Given the description of an element on the screen output the (x, y) to click on. 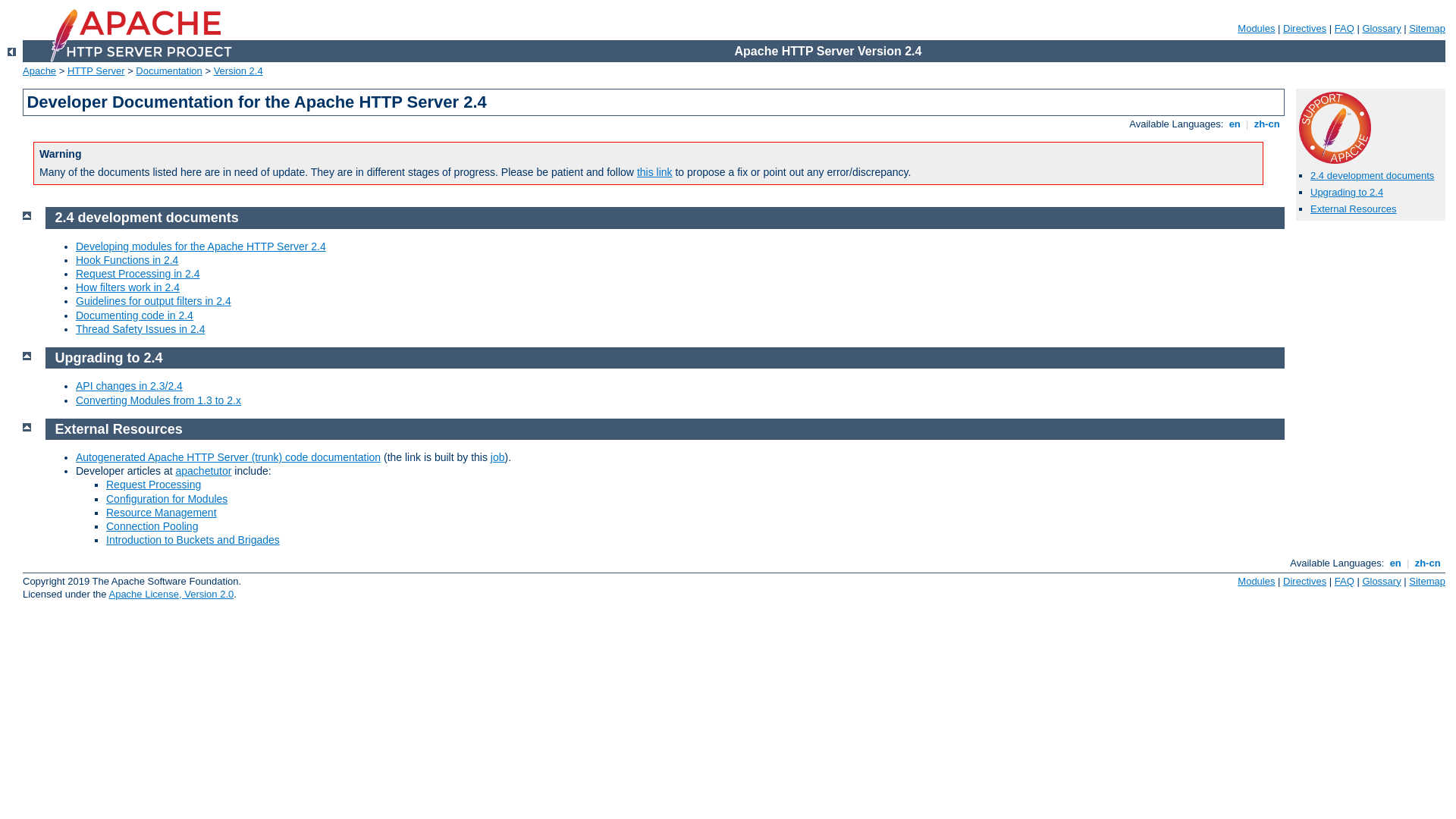
Hook Functions in 2.4 Element type: text (126, 260)
Documenting code in 2.4 Element type: text (134, 315)
2.4 development documents Element type: text (1372, 175)
Request Processing in 2.4 Element type: text (137, 273)
Directives Element type: text (1304, 28)
Request Processing Element type: text (153, 484)
Upgrading to 2.4 Element type: text (109, 357)
Version 2.4 Element type: text (238, 70)
 en  Element type: text (1394, 562)
job Element type: text (497, 457)
Developing modules for the Apache HTTP Server 2.4 Element type: text (200, 246)
this link Element type: text (654, 172)
Converting Modules from 1.3 to 2.x Element type: text (158, 400)
Glossary Element type: text (1380, 580)
Connection Pooling Element type: text (151, 526)
FAQ Element type: text (1344, 580)
External Resources Element type: text (118, 428)
API changes in 2.3/2.4 Element type: text (128, 385)
Directives Element type: text (1304, 580)
Introduction to Buckets and Brigades Element type: text (192, 539)
Autogenerated Apache HTTP Server (trunk) code documentation Element type: text (227, 457)
apachetutor Element type: text (203, 470)
Thread Safety Issues in 2.4 Element type: text (139, 329)
Apache Element type: text (39, 70)
Modules Element type: text (1255, 28)
<- Element type: hover (11, 51)
HTTP Server Element type: text (96, 70)
External Resources Element type: text (1353, 208)
FAQ Element type: text (1344, 28)
Modules Element type: text (1255, 580)
Configuration for Modules Element type: text (166, 498)
Documentation Element type: text (168, 70)
 zh-cn  Element type: text (1266, 123)
Apache License, Version 2.0 Element type: text (170, 593)
 en  Element type: text (1234, 123)
Sitemap Element type: text (1426, 580)
 zh-cn  Element type: text (1427, 562)
How filters work in 2.4 Element type: text (127, 287)
Sitemap Element type: text (1426, 28)
Resource Management Element type: text (161, 512)
Glossary Element type: text (1380, 28)
Upgrading to 2.4 Element type: text (1346, 191)
Guidelines for output filters in 2.4 Element type: text (153, 300)
2.4 development documents Element type: text (146, 217)
